Given the description of an element on the screen output the (x, y) to click on. 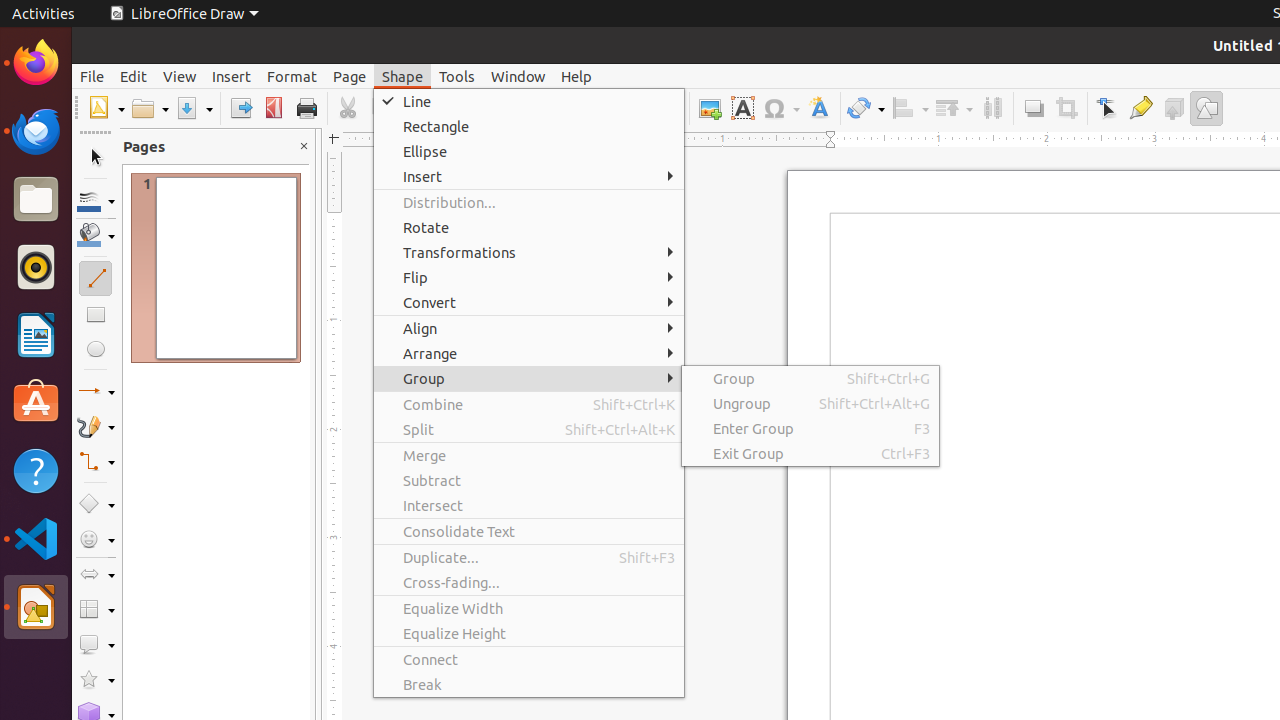
Clone Element type: push-button (465, 108)
Merge Element type: menu-item (529, 455)
Equalize Width Element type: menu-item (529, 608)
LibreOffice Draw Element type: push-button (36, 607)
Flip Element type: menu (529, 277)
